Given the description of an element on the screen output the (x, y) to click on. 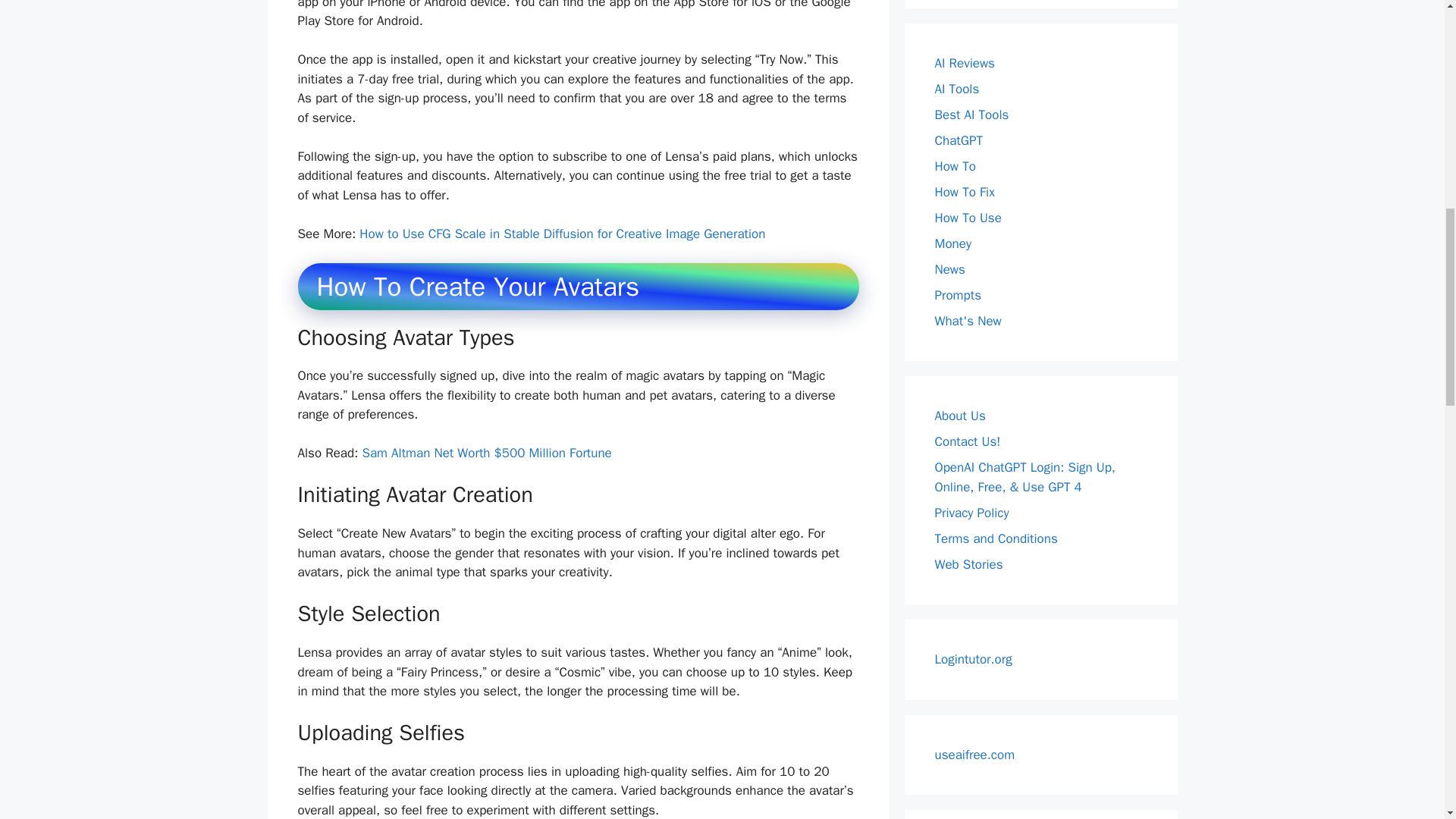
Scroll back to top (1406, 720)
